Given the description of an element on the screen output the (x, y) to click on. 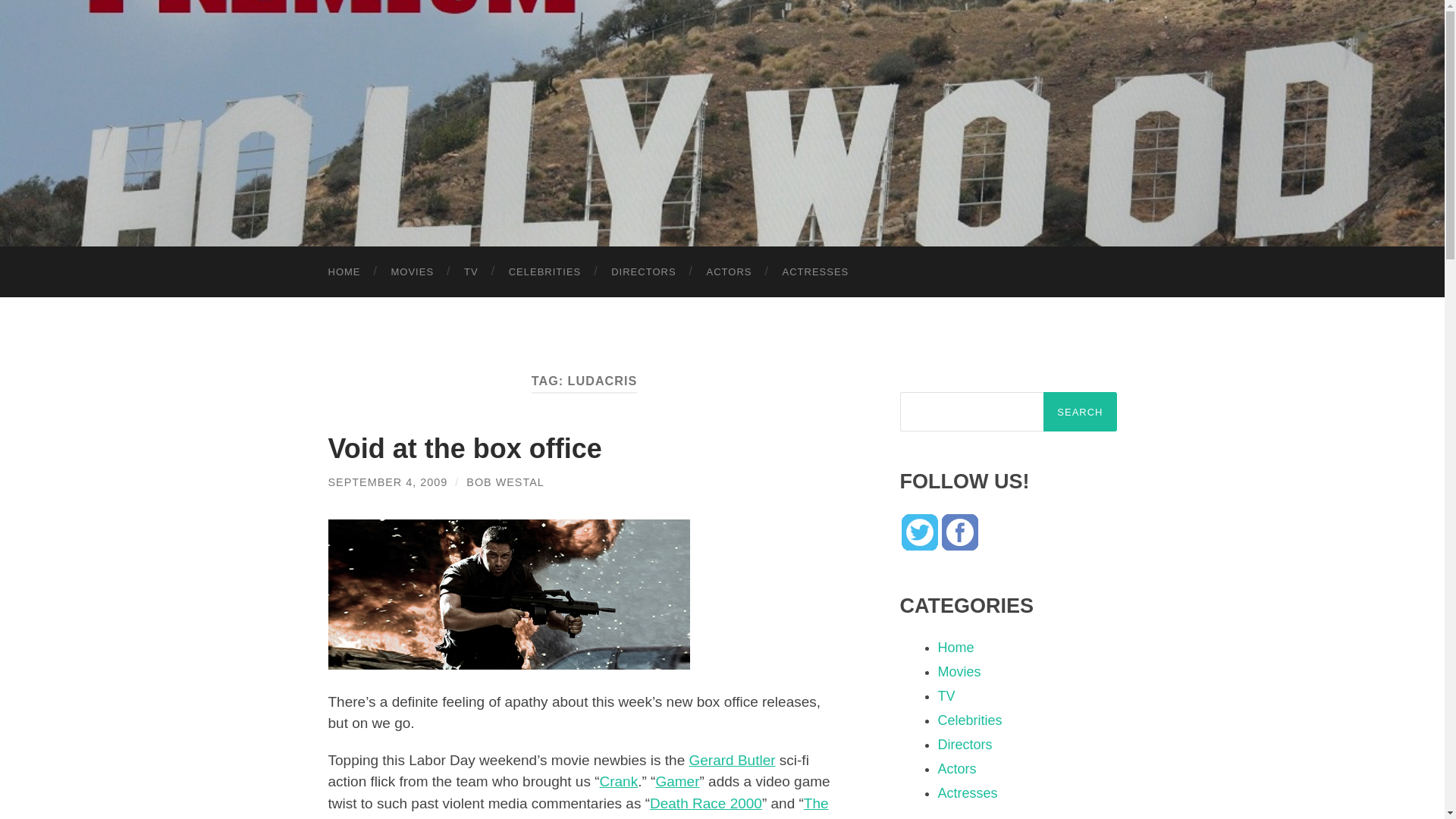
DIRECTORS (642, 271)
Crank (617, 781)
Gerard Butler (731, 760)
ACTRESSES (815, 271)
Death Race 2000 (705, 803)
Search (1079, 411)
Void at the box office (464, 448)
HOME (344, 271)
SEPTEMBER 4, 2009 (386, 481)
Posts by Bob Westal (504, 481)
CELEBRITIES (544, 271)
The Running Man (577, 807)
ACTORS (729, 271)
BOB WESTAL (504, 481)
Gamer (676, 781)
